Given the description of an element on the screen output the (x, y) to click on. 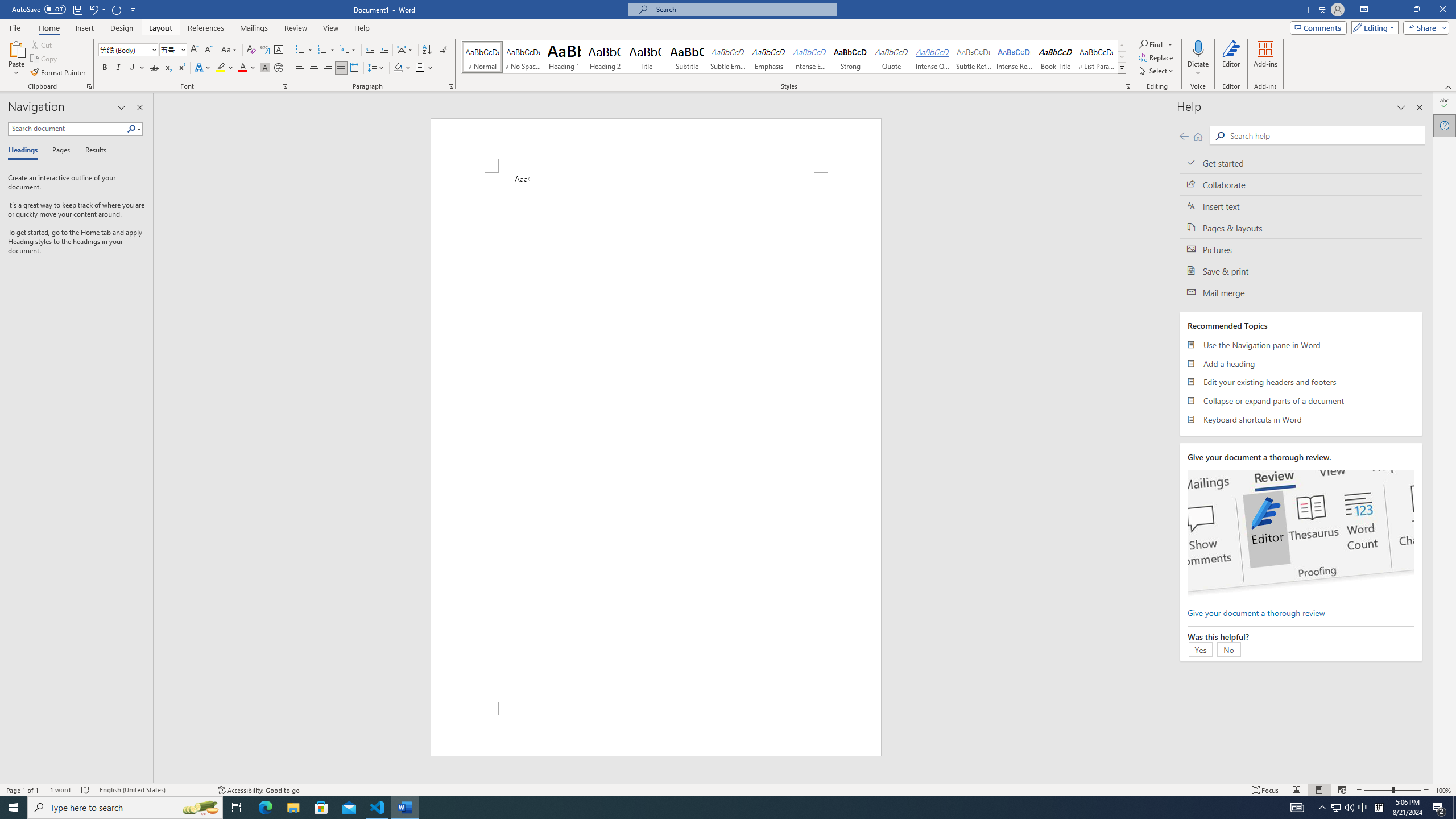
Heading 2 (605, 56)
Zoom 100% (1443, 790)
Page 1 content (655, 436)
Search document (66, 128)
Collapse or expand parts of a document (1300, 400)
Class: NetUIScrollBar (1163, 437)
No (1228, 649)
Use the Navigation pane in Word (1300, 344)
